Given the description of an element on the screen output the (x, y) to click on. 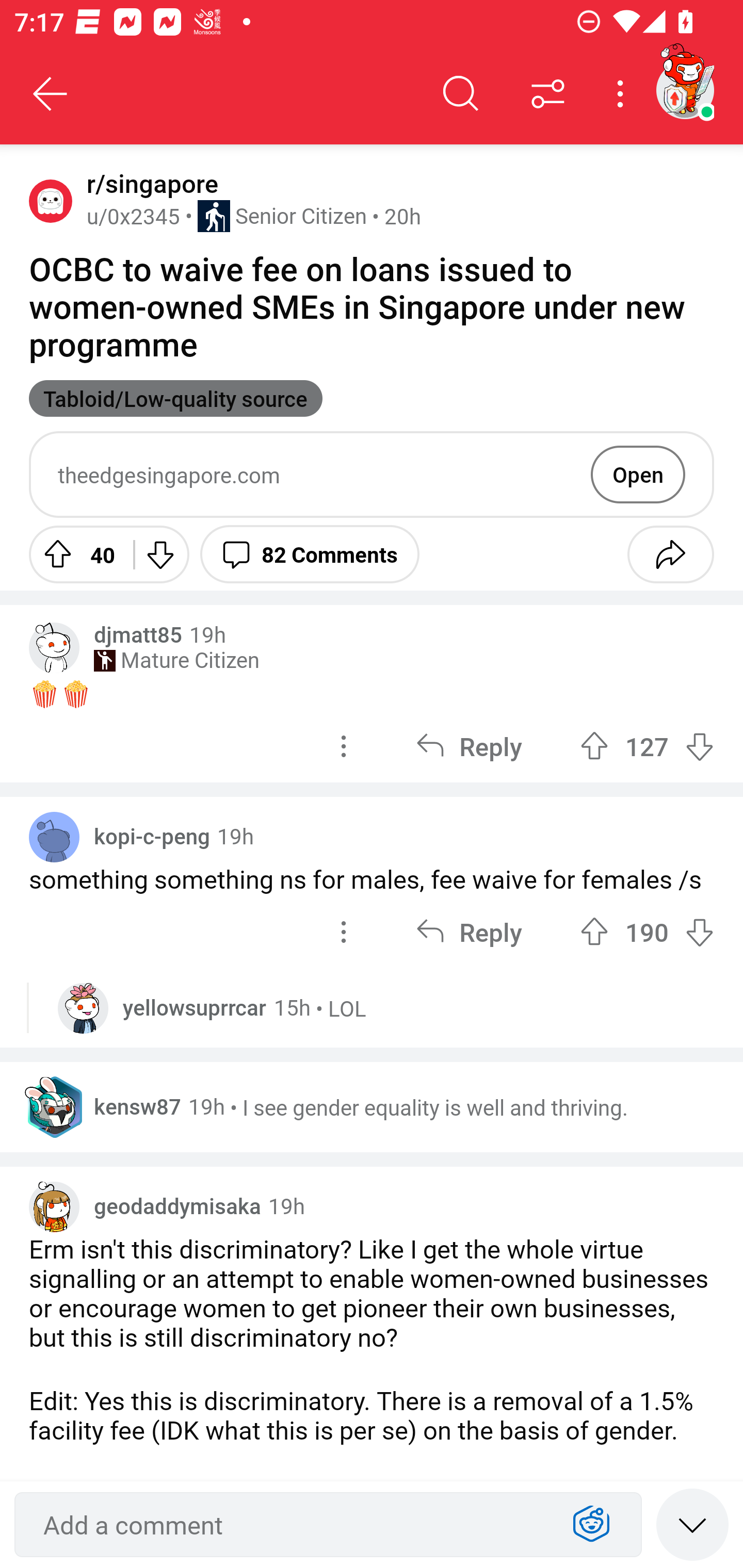
Back (50, 93)
TestAppium002 account (685, 90)
Search comments (460, 93)
Sort comments (547, 93)
More options (623, 93)
r/singapore (148, 183)
Avatar (50, 200)
Tabloid/Low-quality source (175, 398)
theedgesingapore.com Open (371, 474)
Open (637, 474)
Upvote 40 (73, 554)
Downvote (158, 554)
82 Comments (309, 554)
Share (670, 554)
Custom avatar (53, 647)
￼ Mature Citizen (176, 659)
🍿🍿 (371, 692)
options (343, 746)
Reply (469, 746)
Upvote 127 127 votes Downvote (647, 746)
Avatar (53, 837)
options (343, 931)
Reply (469, 931)
Upvote 190 190 votes Downvote (647, 931)
Custom avatar (82, 1008)
Custom avatar (53, 1207)
Speed read (692, 1524)
Add a comment (291, 1524)
Show Expressions (590, 1524)
